Given the description of an element on the screen output the (x, y) to click on. 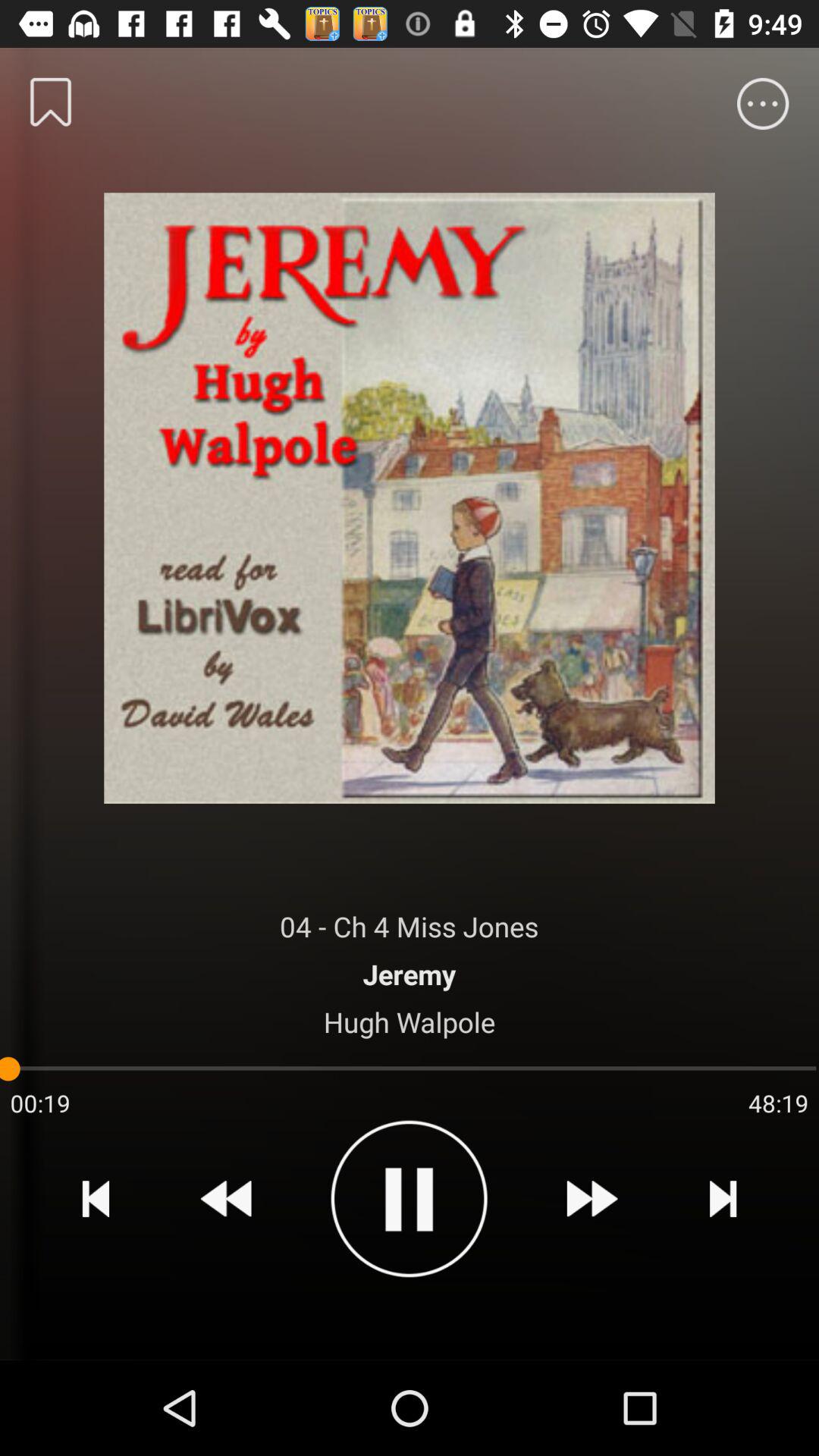
choose the jeremy (409, 974)
